Given the description of an element on the screen output the (x, y) to click on. 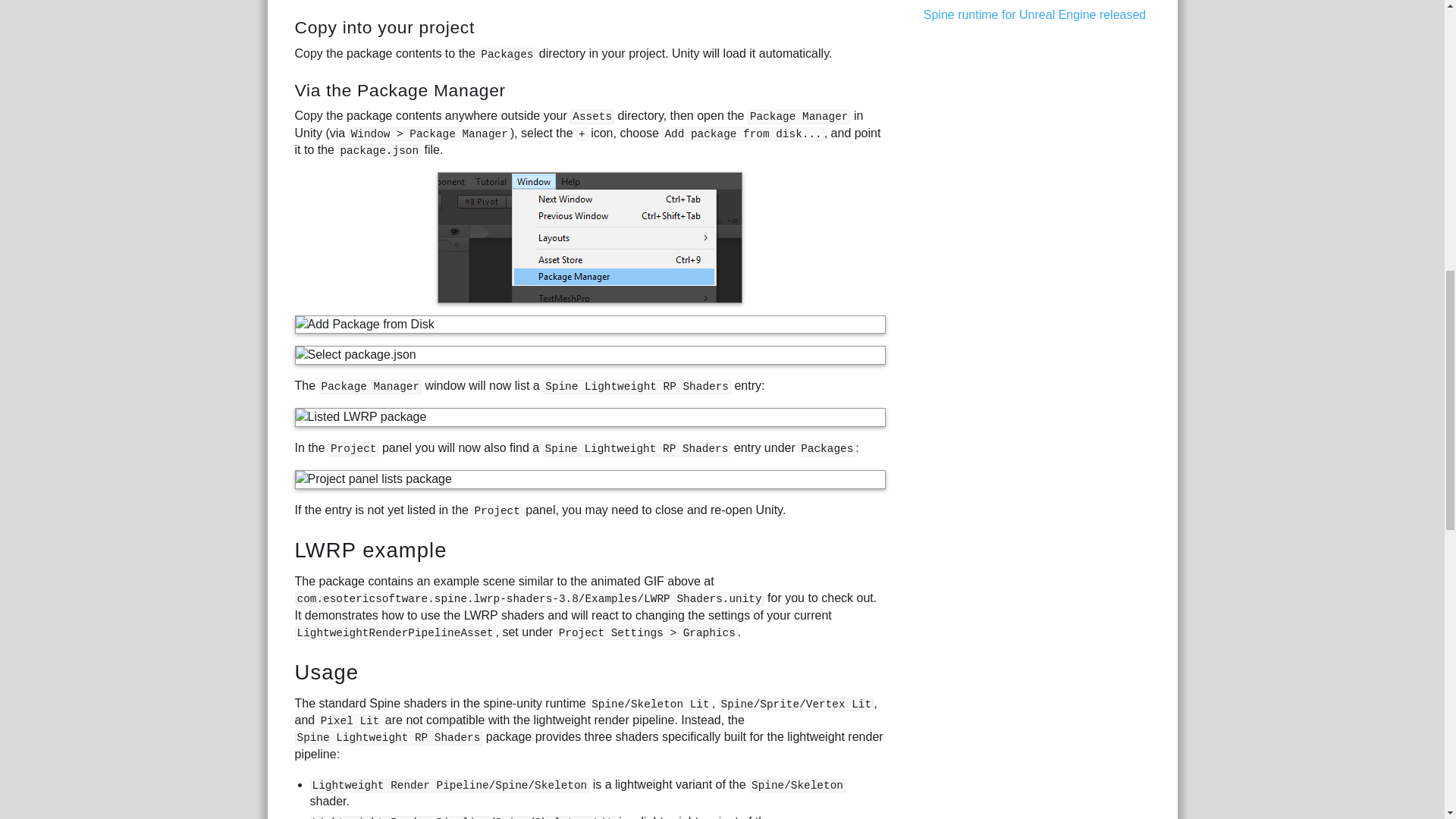
LWRP example (370, 549)
Via the Package Manager (399, 89)
Copy into your project (384, 26)
Usage (326, 671)
